Given the description of an element on the screen output the (x, y) to click on. 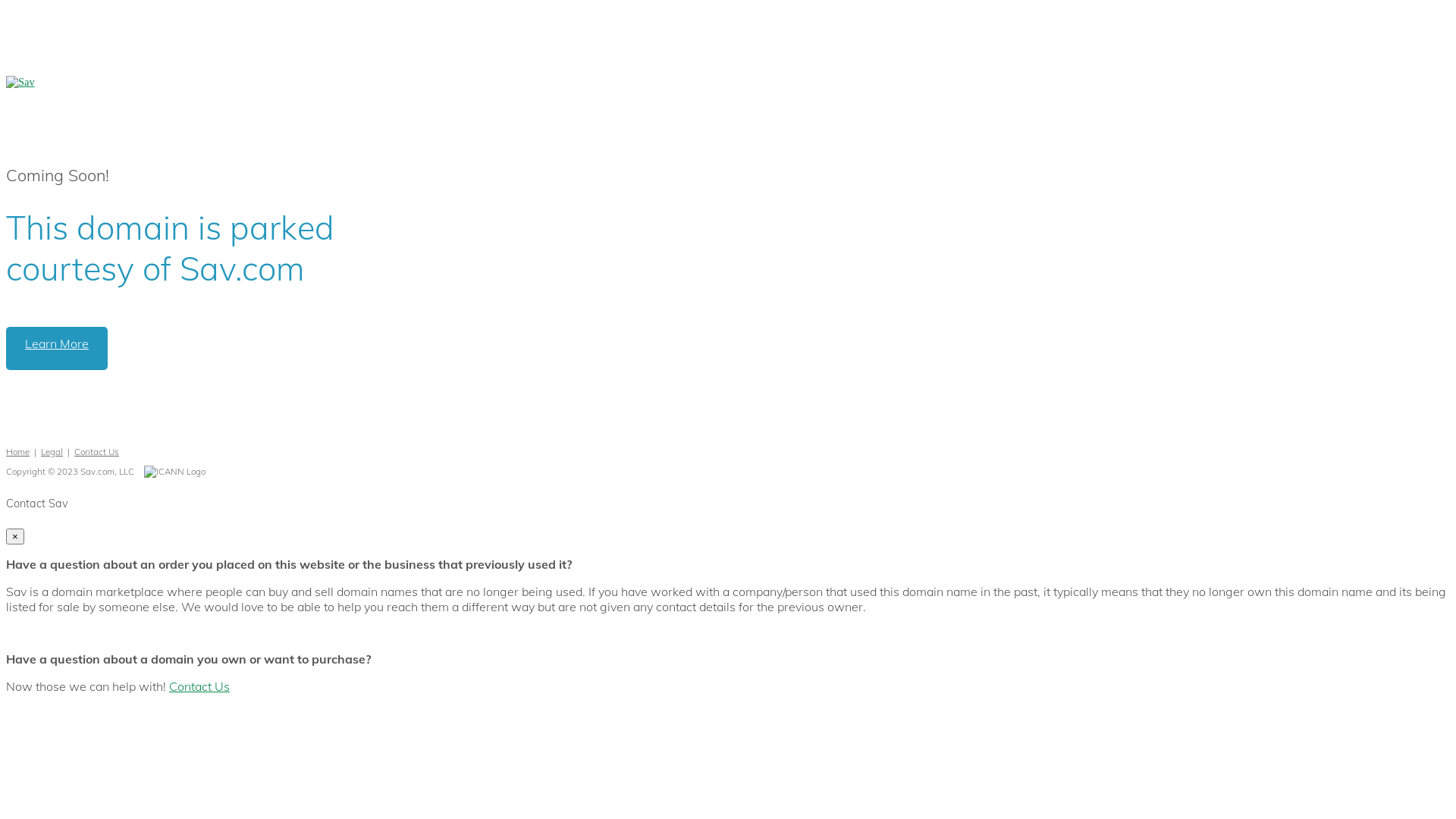
Learn More Element type: text (56, 348)
Contact Us Element type: text (199, 685)
Legal Element type: text (51, 451)
Home Element type: text (17, 451)
Contact Us Element type: text (96, 451)
